Given the description of an element on the screen output the (x, y) to click on. 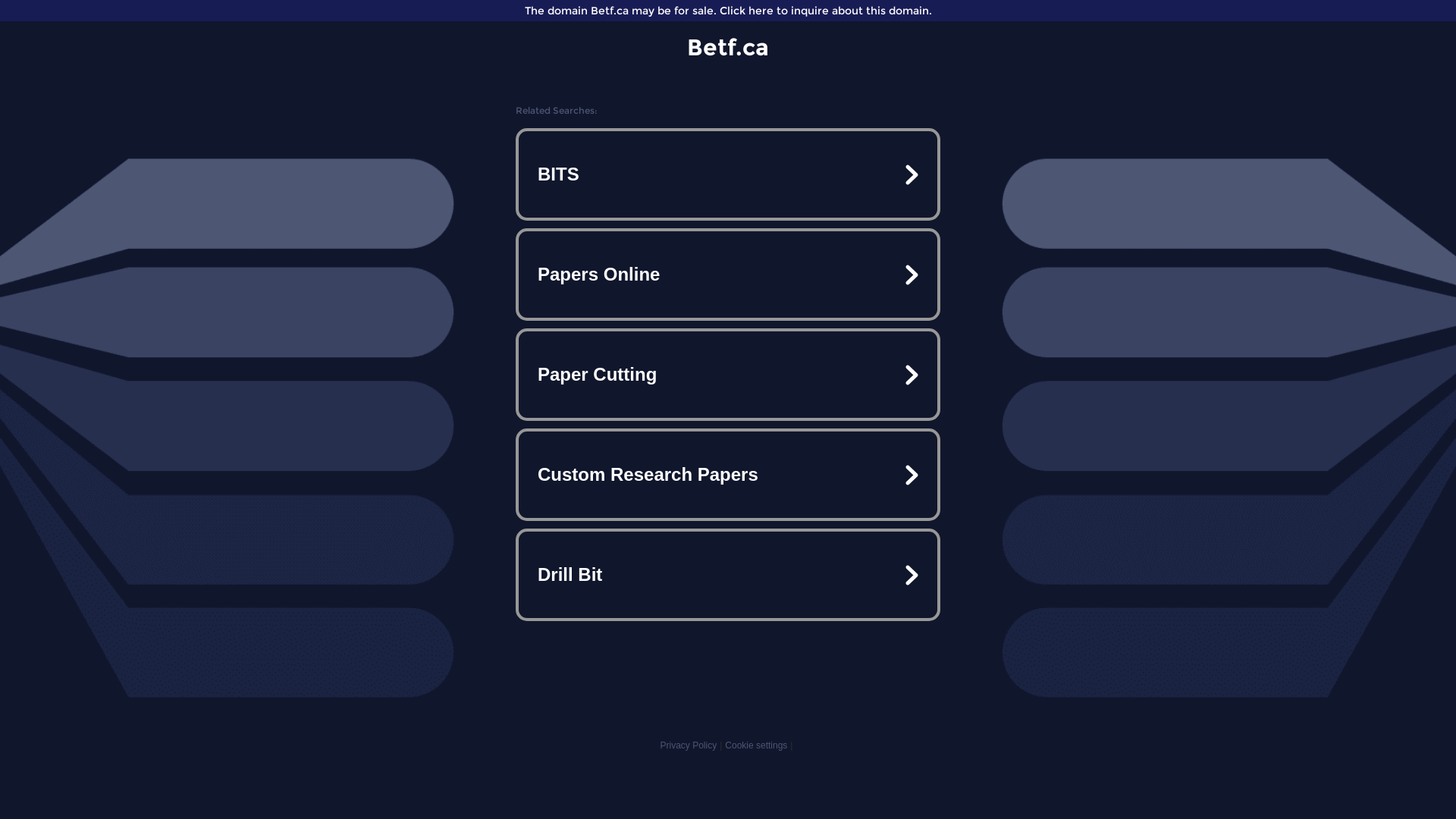
Drill Bit Element type: text (727, 574)
Betf.ca Element type: text (727, 47)
Custom Research Papers Element type: text (727, 474)
Cookie settings Element type: text (755, 745)
BITS Element type: text (727, 174)
Privacy Policy Element type: text (687, 745)
Paper Cutting Element type: text (727, 374)
Papers Online Element type: text (727, 274)
